Given the description of an element on the screen output the (x, y) to click on. 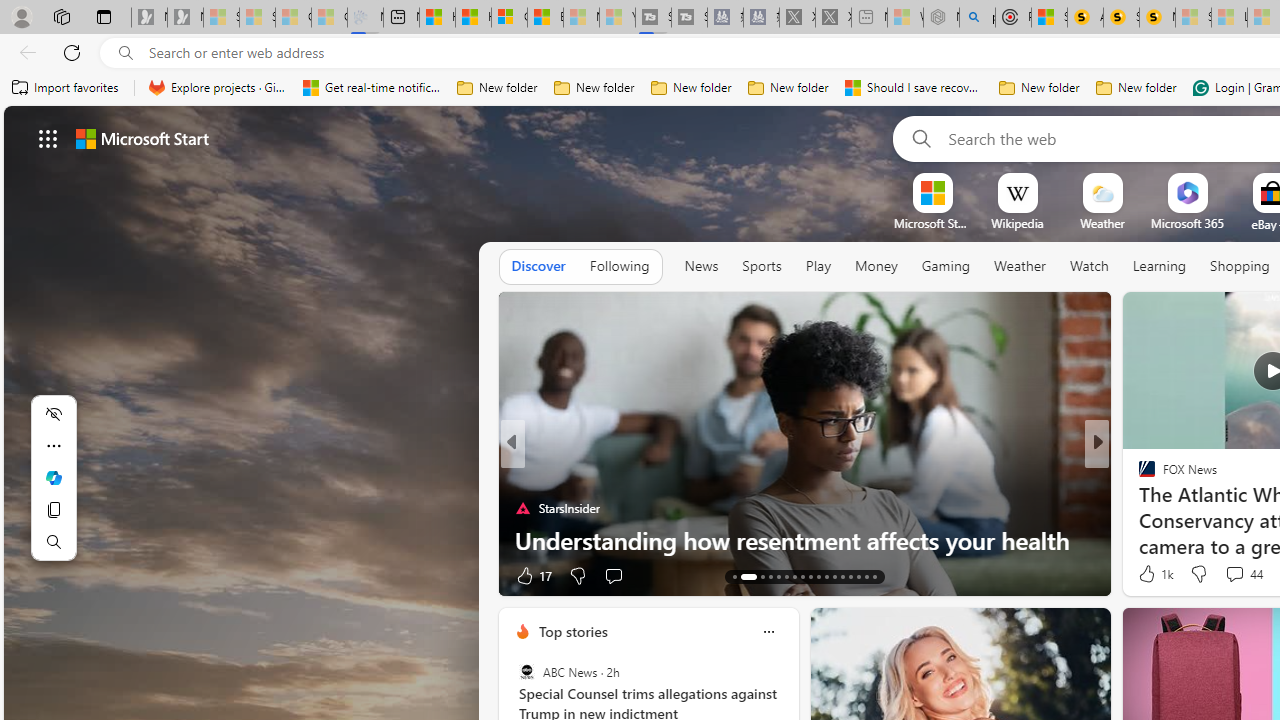
CNN (1138, 475)
1k Like (1154, 574)
Top stories (572, 631)
View comments 6 Comment (1229, 575)
Start the conversation (1222, 574)
Start the conversation (1222, 575)
Weather (1019, 267)
AutomationID: tab-24 (833, 576)
New folder (1136, 88)
Overview (509, 17)
